Given the description of an element on the screen output the (x, y) to click on. 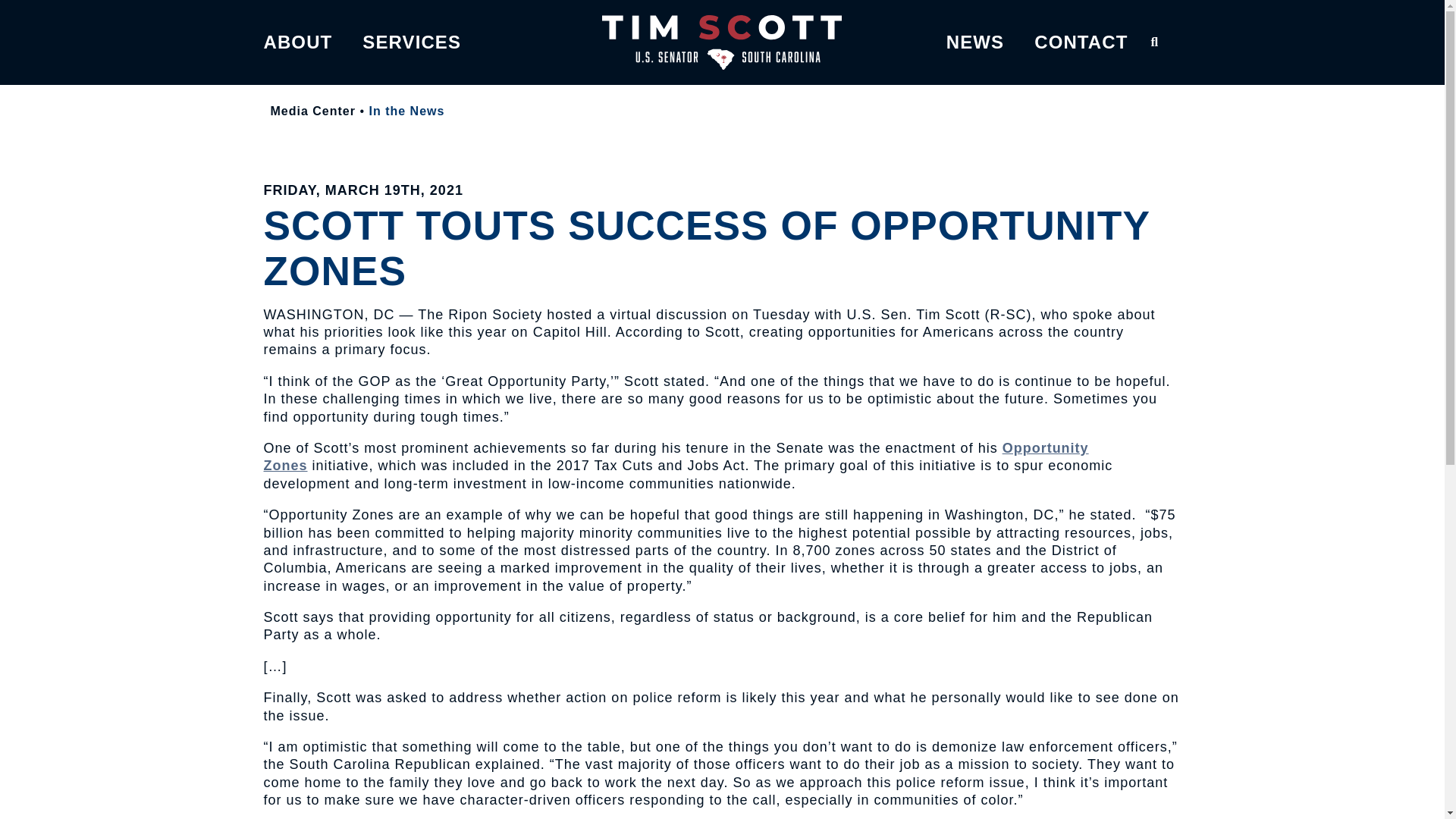
CONTACT (1079, 41)
ABOUT (298, 41)
SERVICES (411, 41)
NEWS (975, 41)
